Given the description of an element on the screen output the (x, y) to click on. 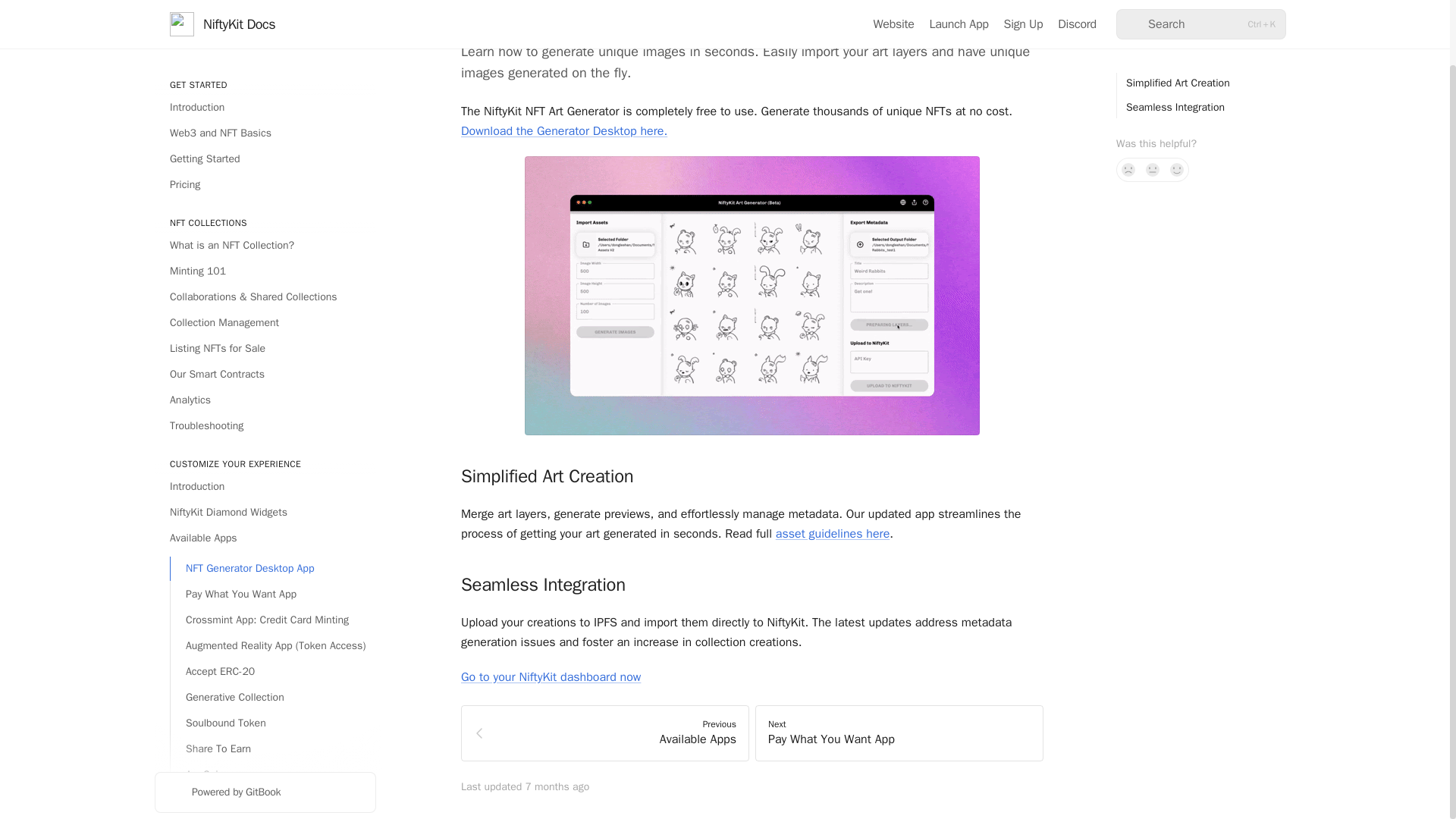
Minting 101 (264, 200)
Getting Started (264, 87)
No (1128, 98)
Web3 and NFT Basics (264, 61)
Collection Management (264, 251)
What is an NFT Collection? (264, 174)
Not sure (1152, 98)
Pricing (264, 113)
Yes, it was! (1176, 98)
Introduction (264, 36)
